Given the description of an element on the screen output the (x, y) to click on. 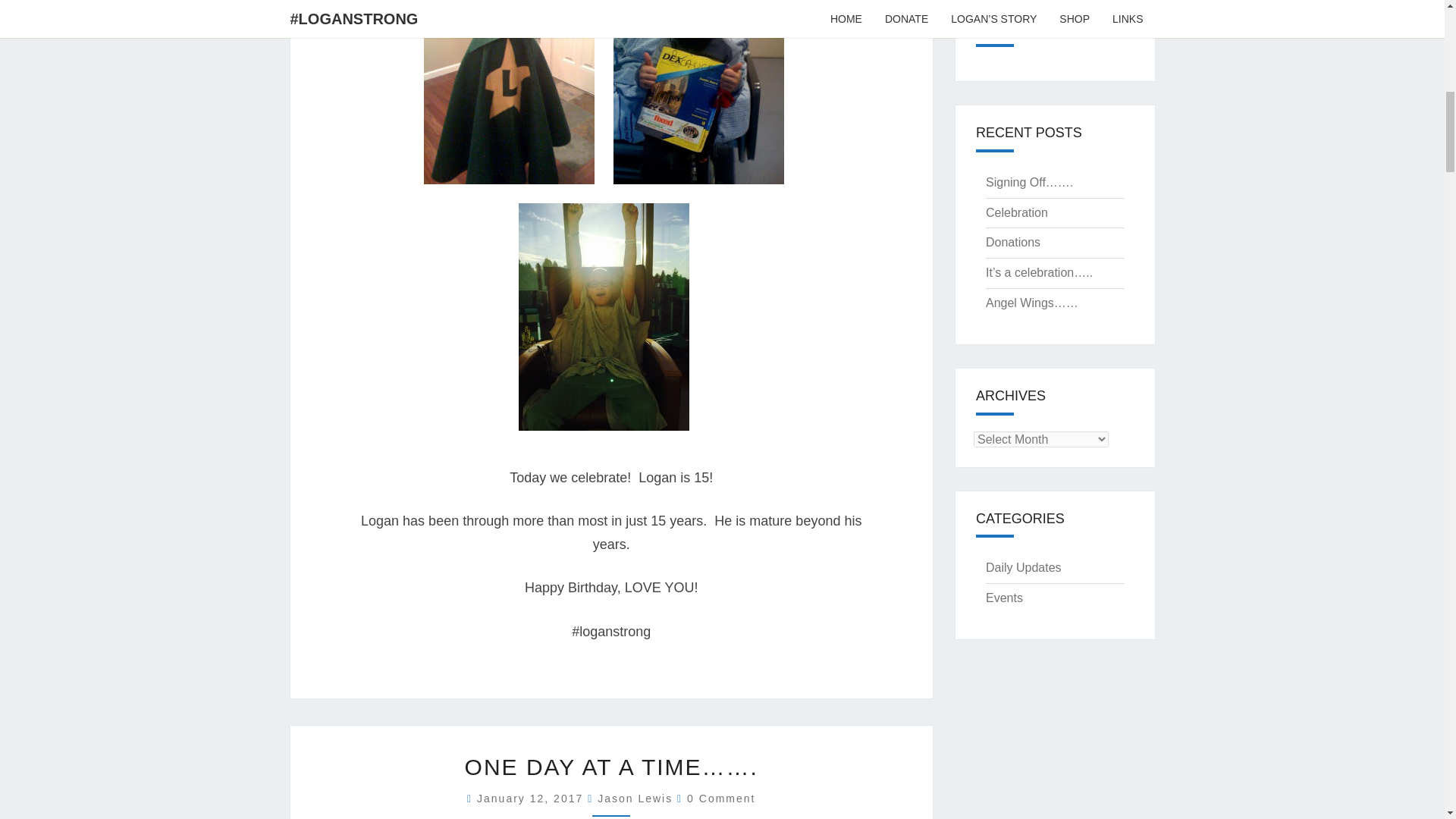
View all posts by Jason Lewis (634, 798)
0 Comment (721, 798)
January 12, 2017 (532, 798)
Jason Lewis (634, 798)
3:58 pm (532, 798)
